Given the description of an element on the screen output the (x, y) to click on. 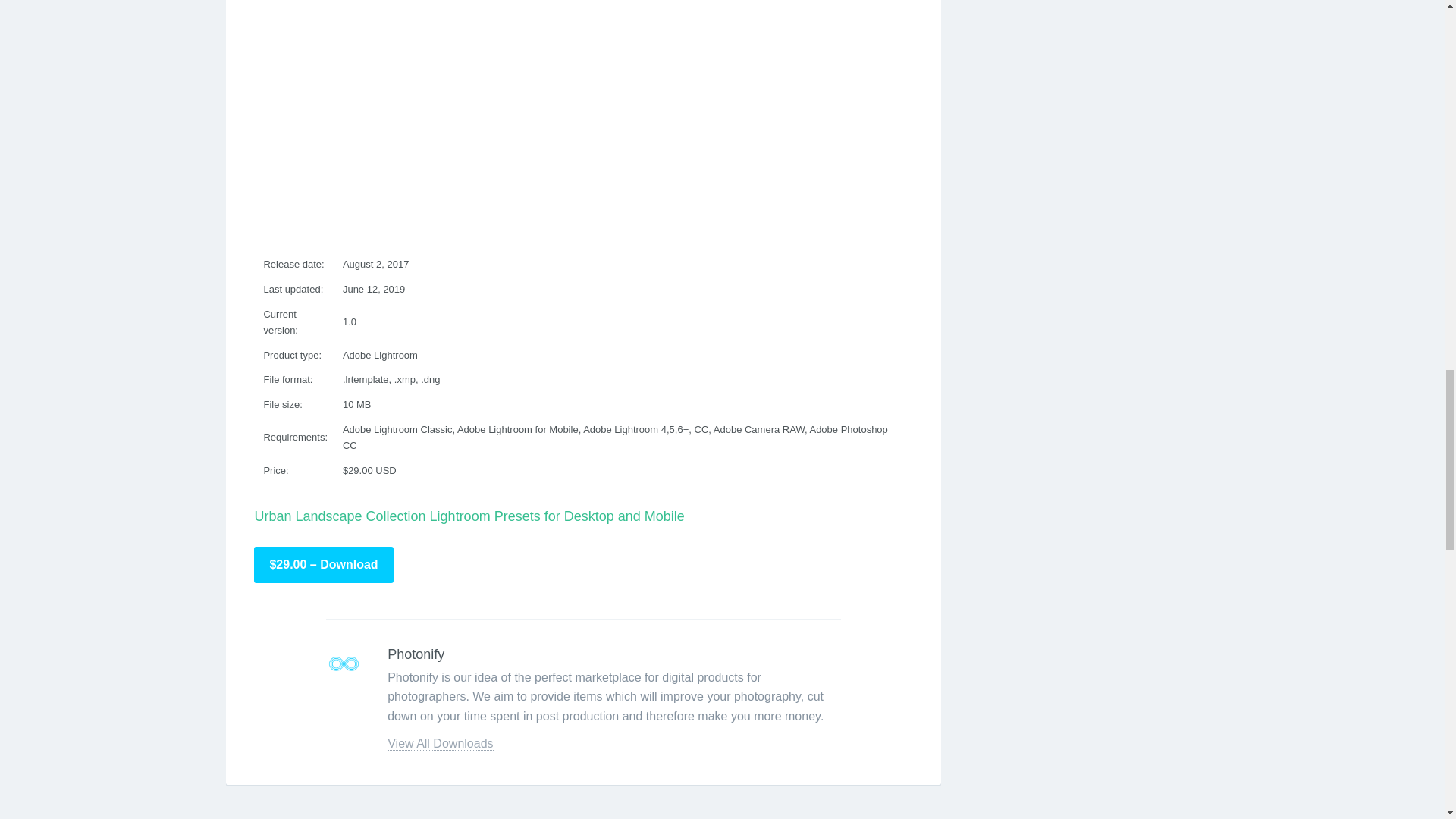
Downloads by Photonify (344, 664)
View All Downloads (440, 744)
